Given the description of an element on the screen output the (x, y) to click on. 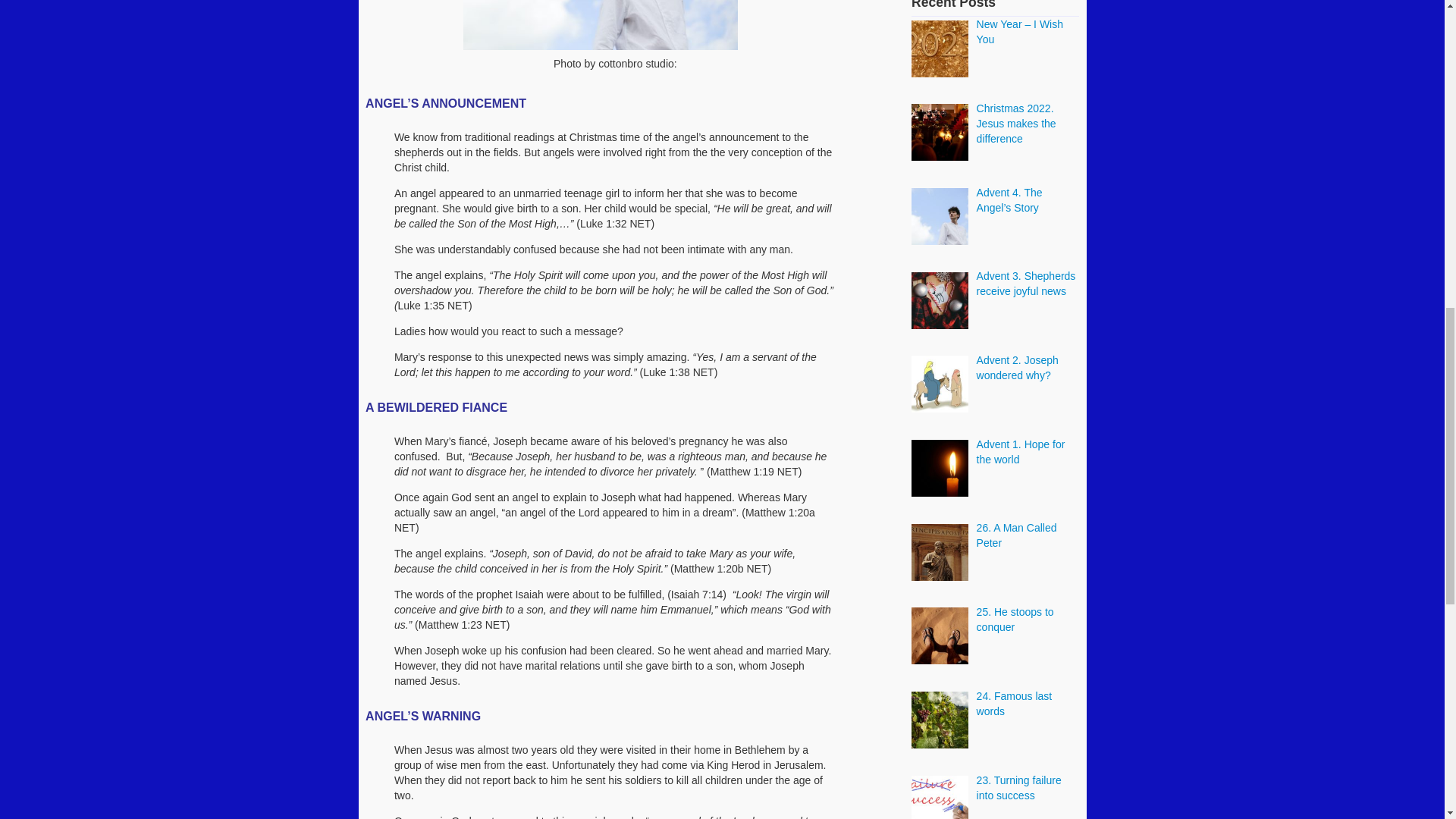
23. Turning failure into success (1018, 787)
25. He stoops to conquer (1015, 619)
Advent 2. Joseph wondered why? (1017, 367)
Christmas 2022. Jesus makes the difference (1016, 123)
26. A Man Called Peter (1016, 534)
Advent 1. Hope for the world (1020, 452)
24. Famous last words (1014, 703)
Advent 3. Shepherds receive joyful news (1025, 283)
